Given the description of an element on the screen output the (x, y) to click on. 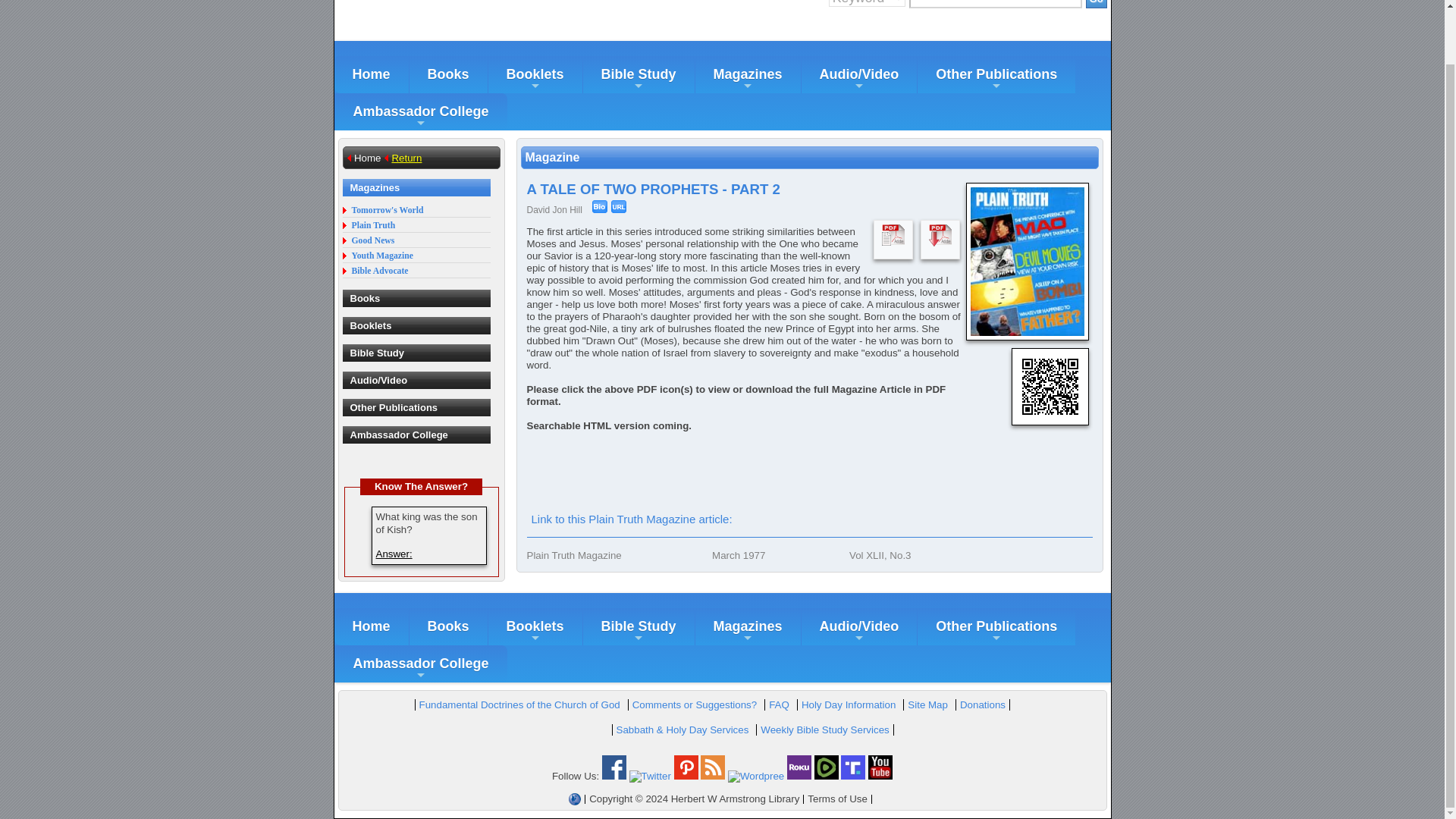
Worldwide Church of God (574, 799)
HWALibrary - Pinterest (686, 776)
Books (448, 74)
HWALibrary - Facebook (614, 776)
HWALibrary - Wordpress (756, 776)
Bible Study (638, 74)
Go (1096, 4)
HWALibrary - Roku TV (798, 776)
